Given the description of an element on the screen output the (x, y) to click on. 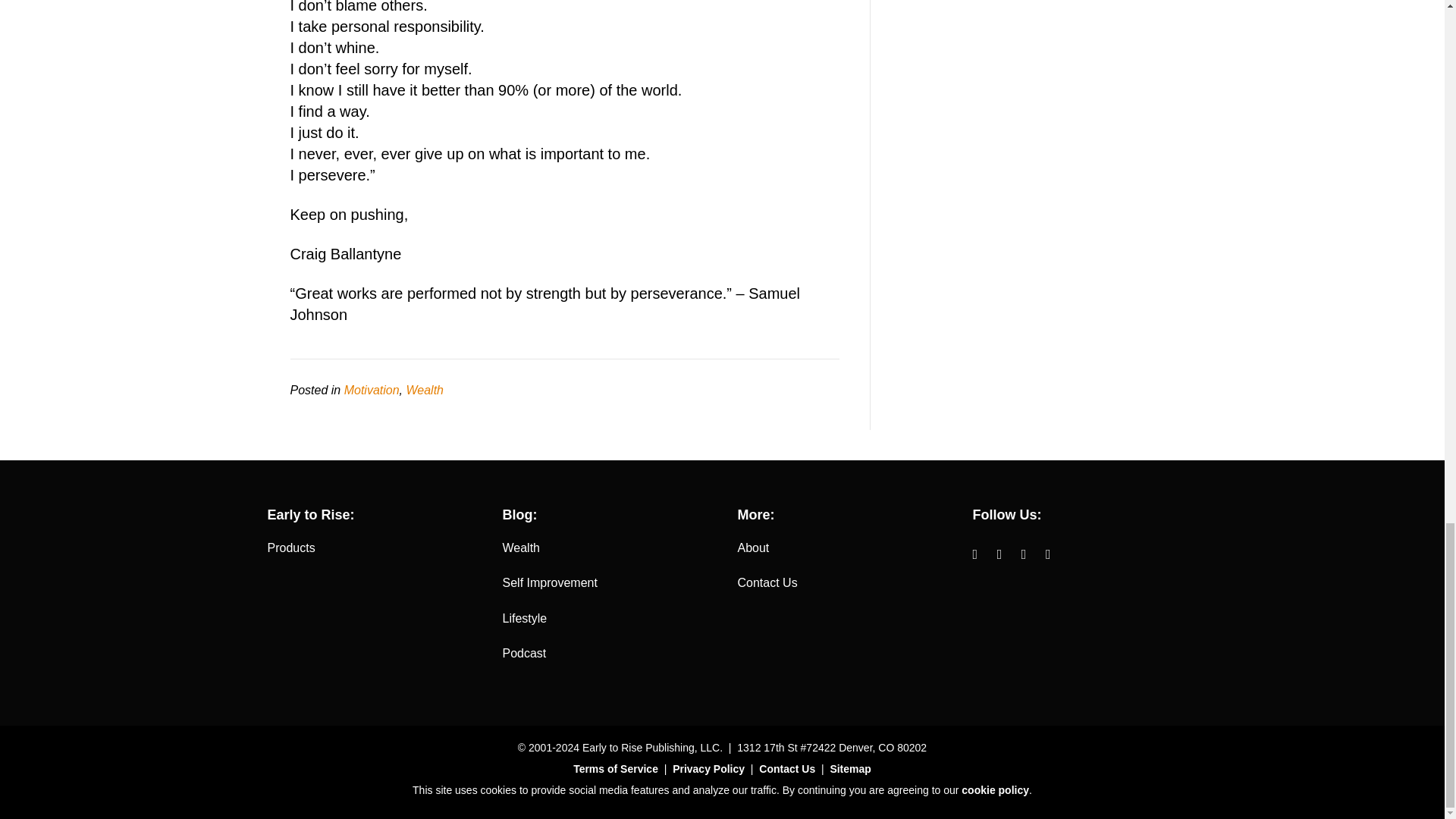
Wealth (425, 390)
Podcast (524, 653)
Terms of Service (615, 768)
Contact Us (786, 768)
Contact Us (766, 582)
cookie policy (994, 789)
Motivation (370, 390)
Wealth (521, 547)
Lifestyle (524, 617)
About (752, 547)
